Given the description of an element on the screen output the (x, y) to click on. 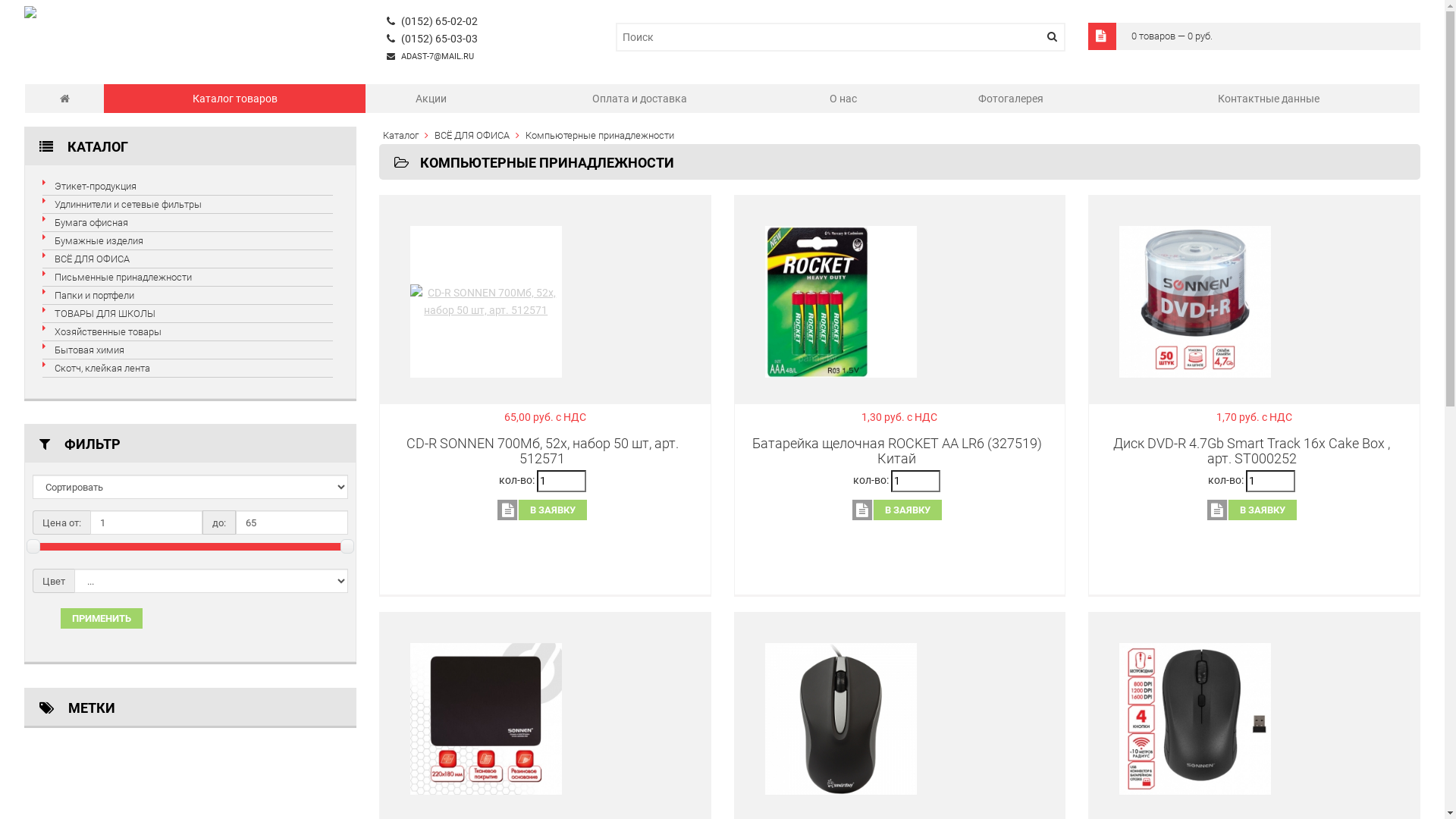
Adast_by Element type: hover (64, 98)
Adast.by Element type: hover (30, 14)
Qty Element type: hover (561, 481)
Qty Element type: hover (1270, 481)
Qty Element type: hover (915, 481)
